Given the description of an element on the screen output the (x, y) to click on. 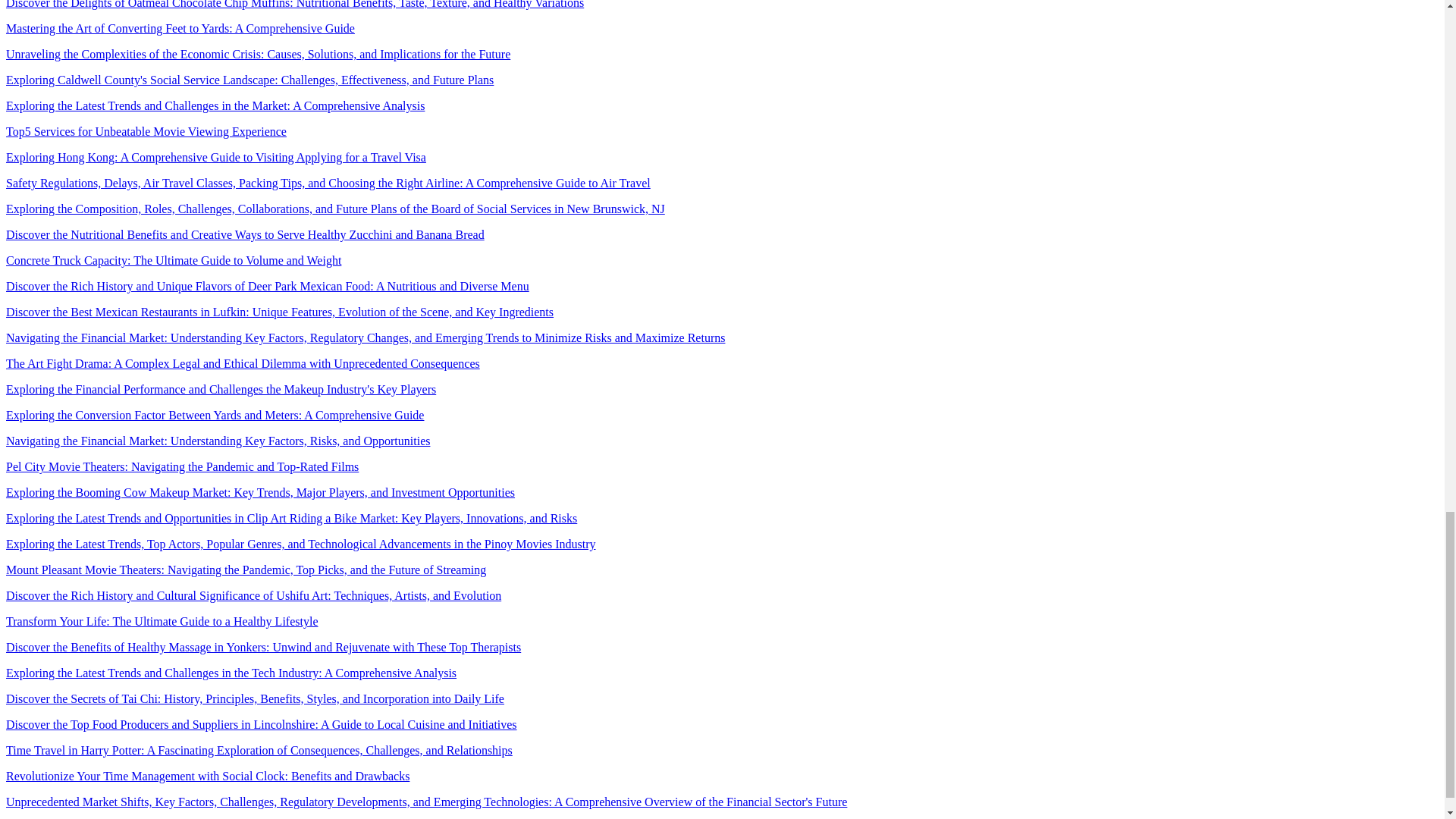
Top5 Services for Unbeatable Movie Viewing Experience (145, 131)
